Given the description of an element on the screen output the (x, y) to click on. 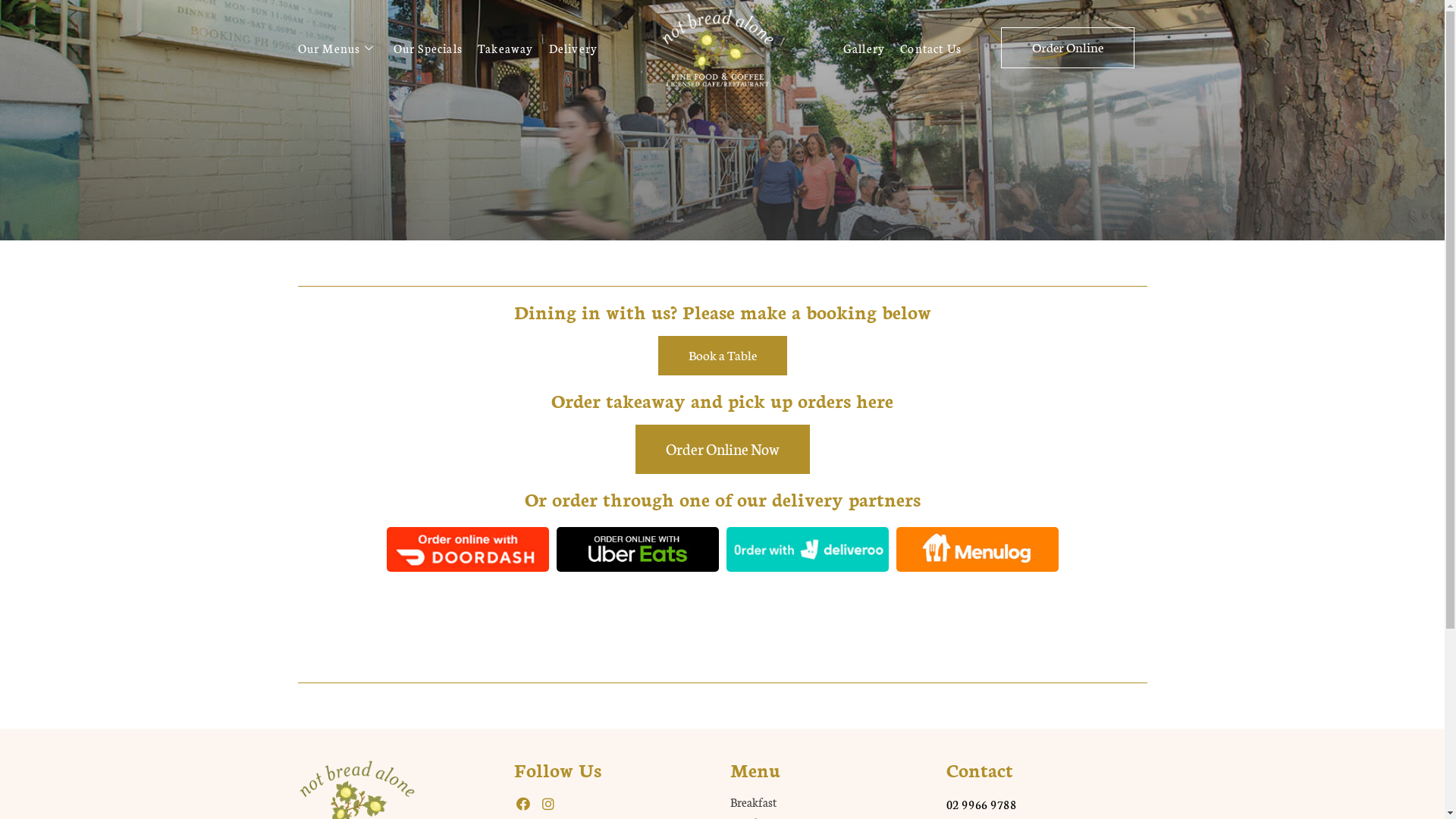
Breakfast Element type: text (829, 801)
Book a Table Element type: text (722, 355)
Gallery Element type: text (871, 47)
Order Online Now Element type: text (722, 448)
Our Specials Element type: text (435, 47)
02 9966 9788 Element type: text (981, 804)
Contact Us Element type: text (938, 47)
Order Online Element type: text (1067, 47)
Takeaway Element type: text (513, 47)
Delivery Element type: text (581, 47)
Our Menus Element type: text (344, 47)
